Given the description of an element on the screen output the (x, y) to click on. 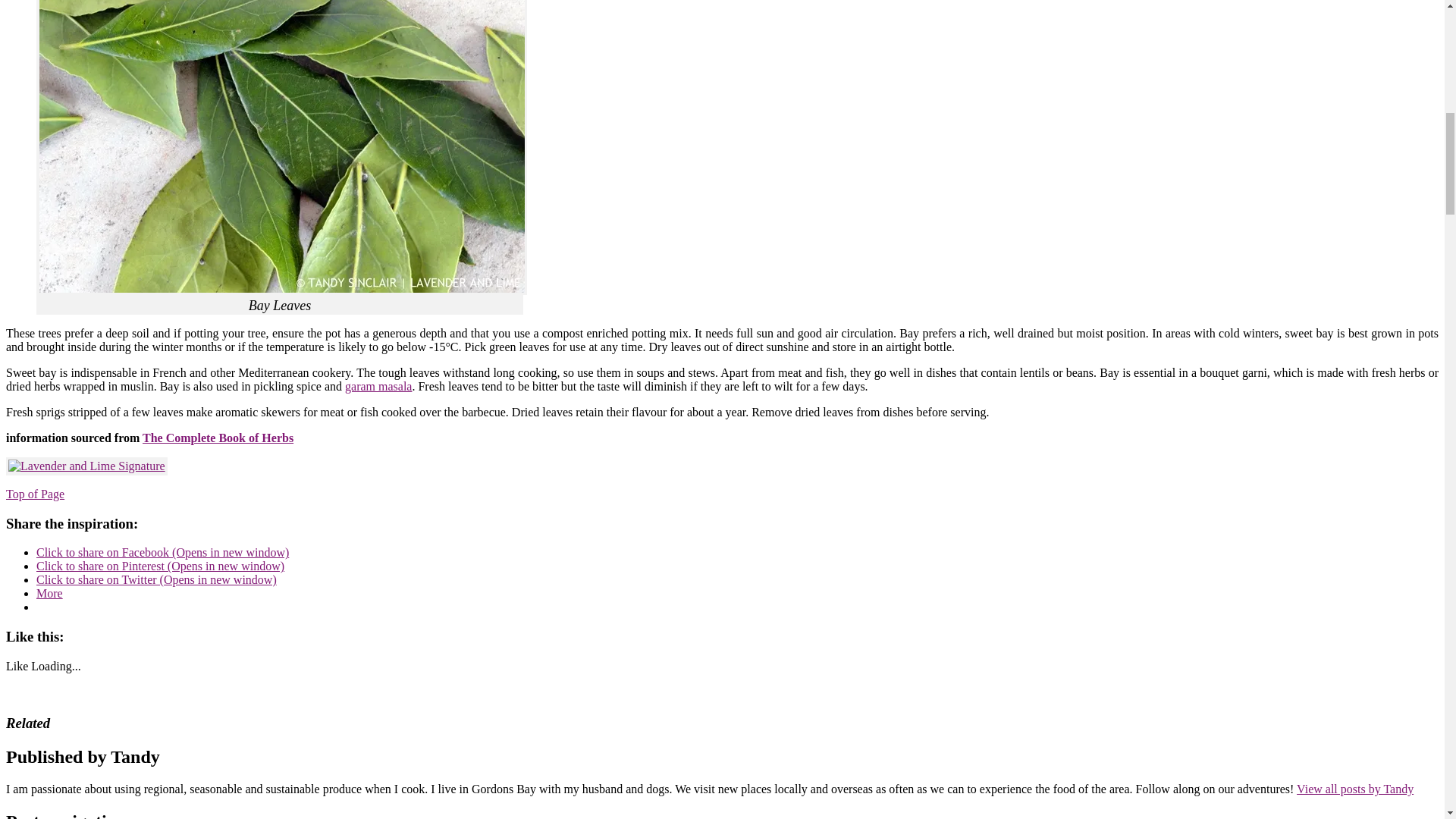
Click to share on Twitter (156, 579)
View all posts by Tandy (1355, 788)
More (49, 593)
garam masala (378, 386)
The Complete Book of Herbs (218, 437)
Click to share on Pinterest (159, 565)
Top of Page (34, 493)
lavender and lime (26, 766)
Click to share on Facebook (162, 552)
